Given the description of an element on the screen output the (x, y) to click on. 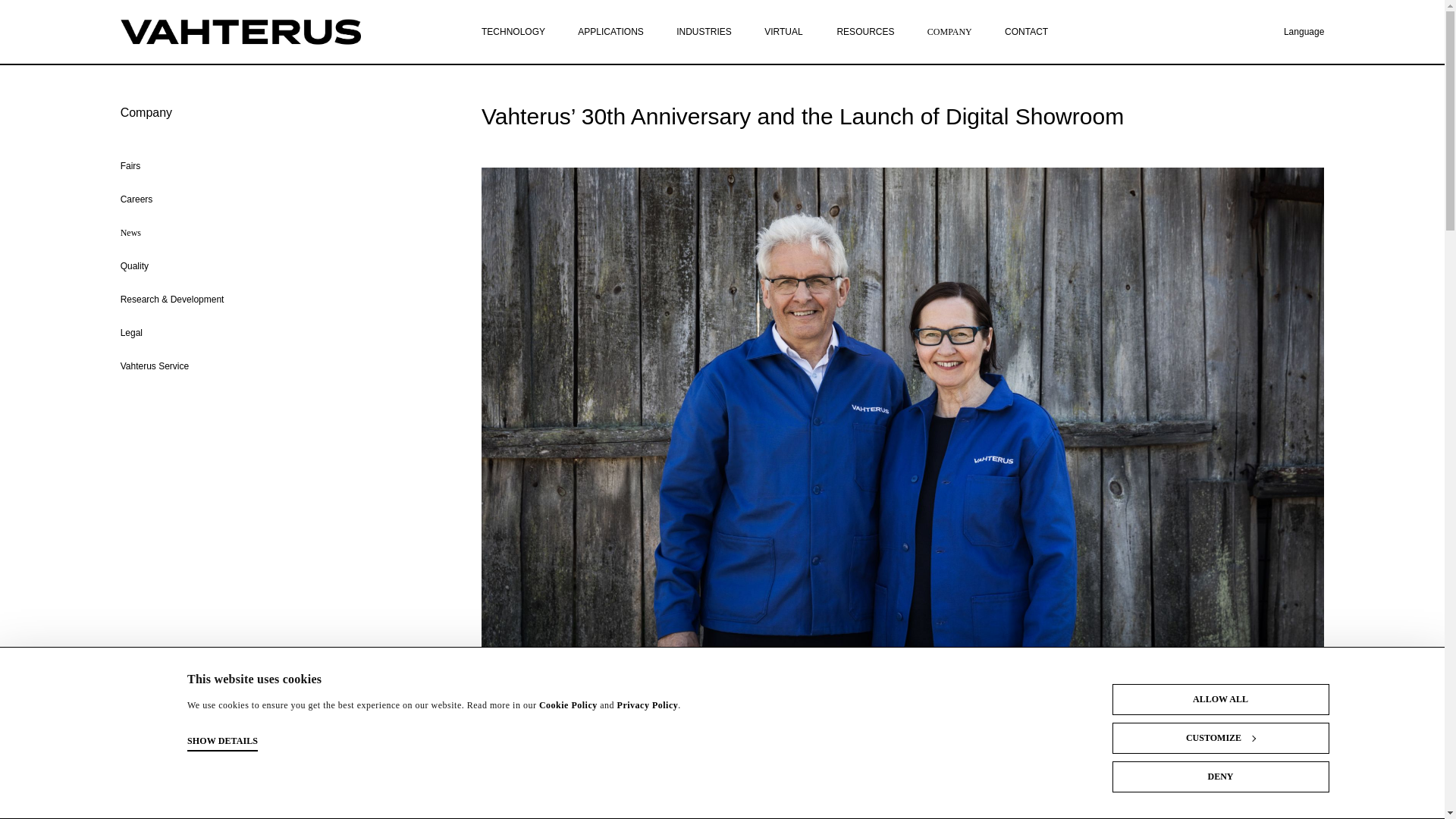
SHOW DETAILS (222, 742)
Cookie Policy (567, 705)
Privacy Policy (647, 705)
